Given the description of an element on the screen output the (x, y) to click on. 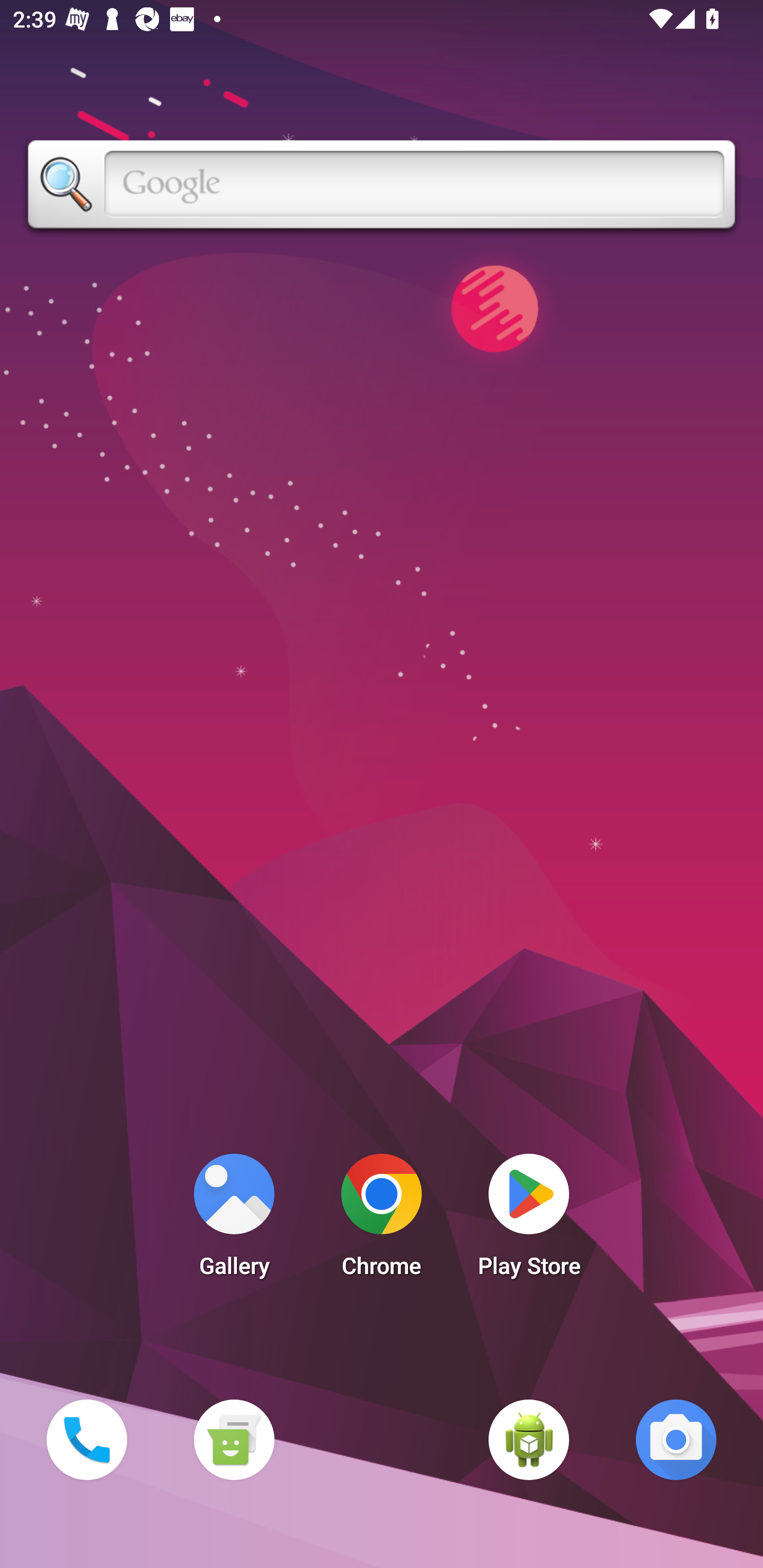
Gallery (233, 1220)
Chrome (381, 1220)
Play Store (528, 1220)
Phone (86, 1439)
Messaging (233, 1439)
WebView Browser Tester (528, 1439)
Camera (676, 1439)
